Given the description of an element on the screen output the (x, y) to click on. 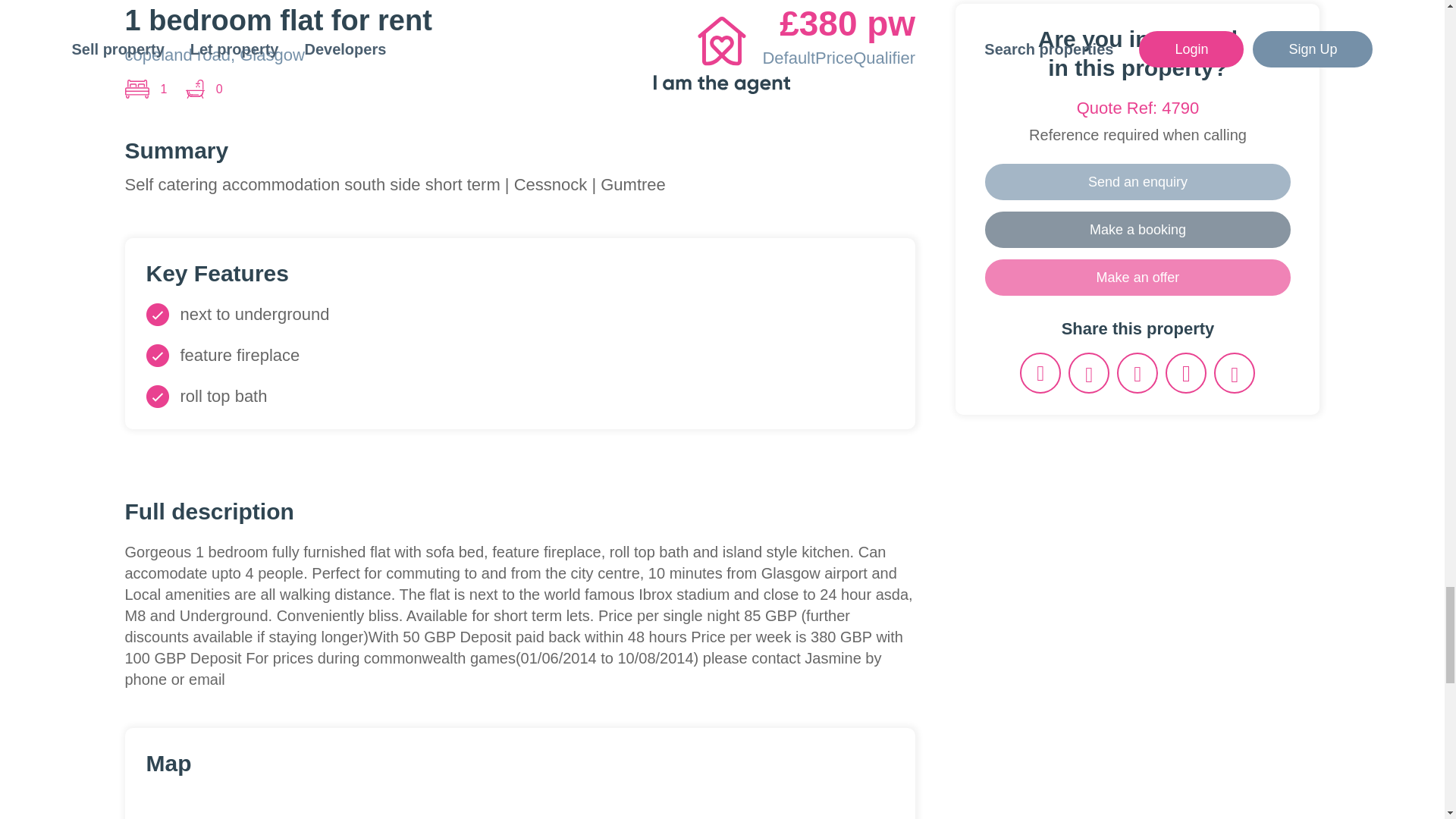
Make a booking (1137, 229)
Send an enquiry (1137, 181)
Make an offer (1137, 277)
